Given the description of an element on the screen output the (x, y) to click on. 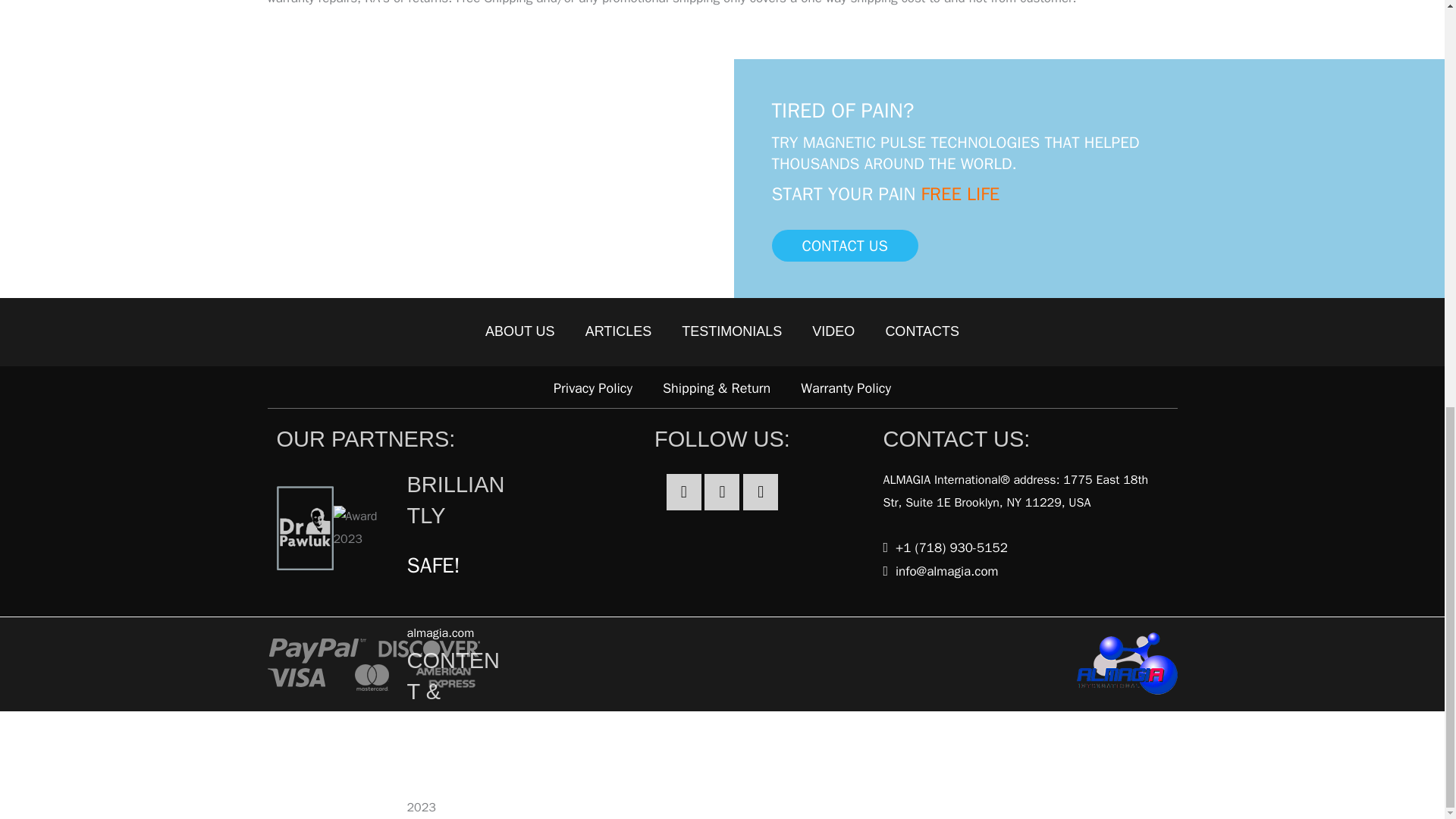
LiveChat chat widget (1337, 4)
